Given the description of an element on the screen output the (x, y) to click on. 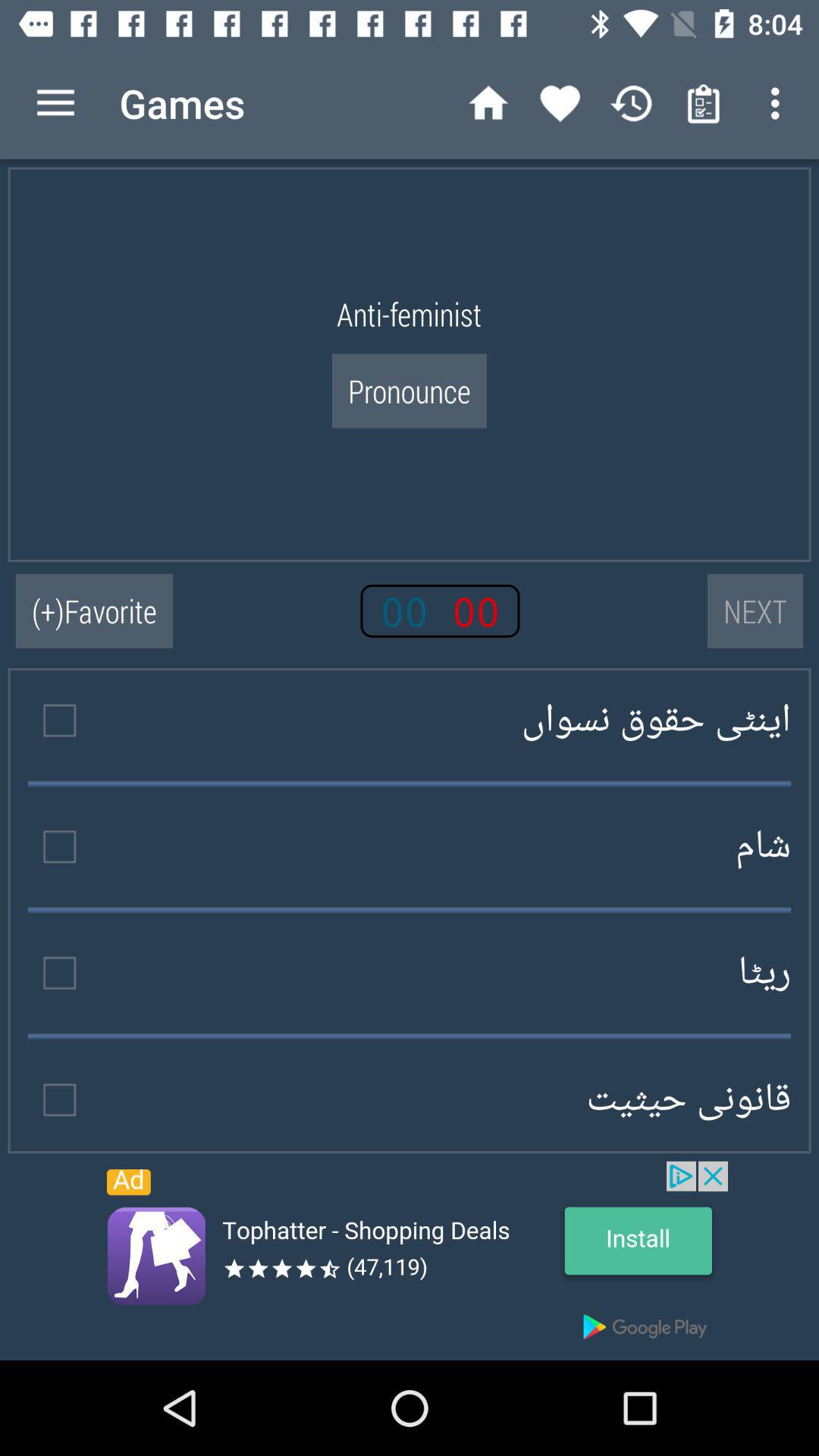
open advertisement (409, 1260)
